Given the description of an element on the screen output the (x, y) to click on. 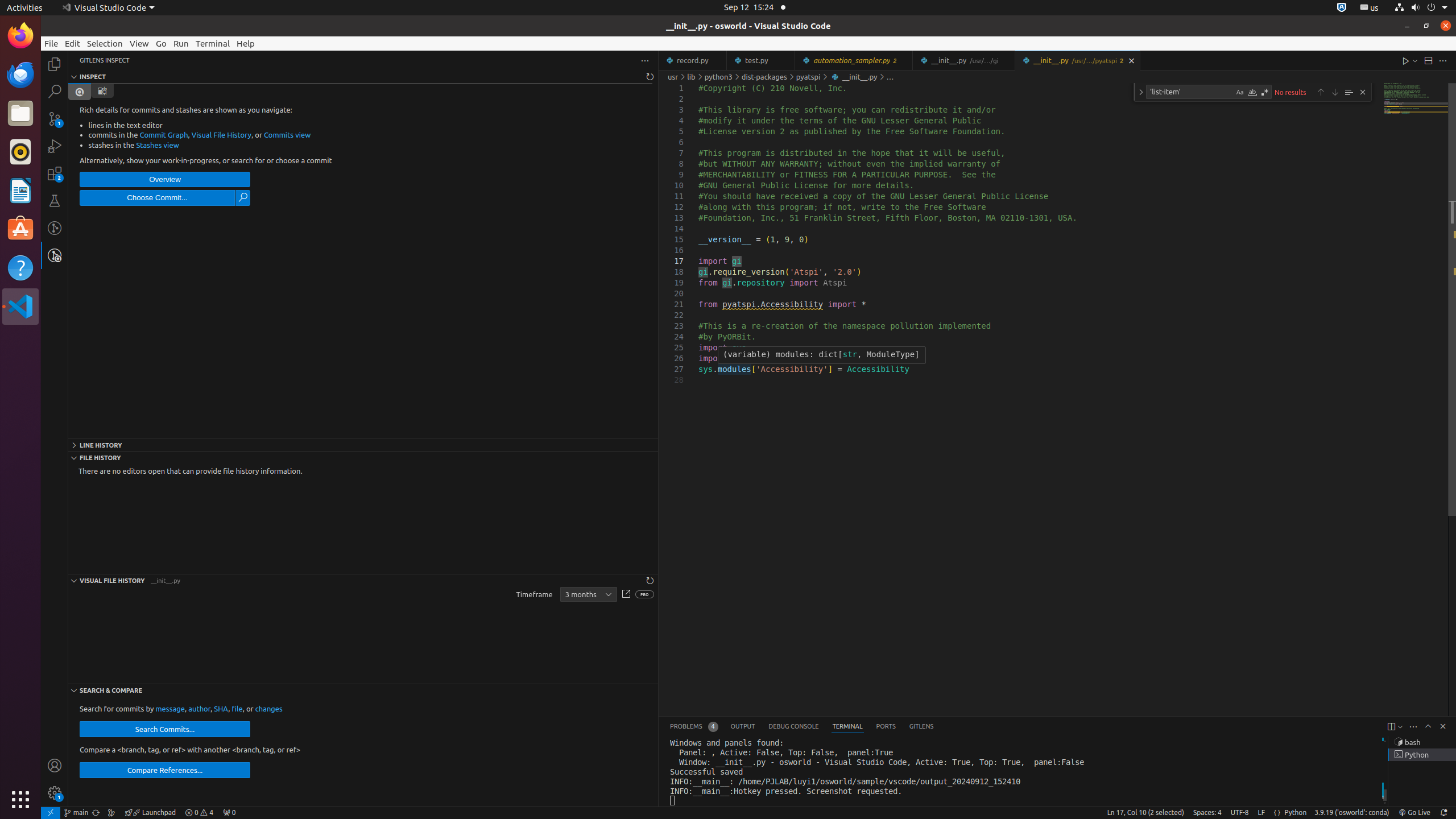
Views and More Actions... Element type: push-button (1413, 726)
Hide Panel Element type: push-button (1442, 726)
Terminal Element type: push-button (212, 43)
